Given the description of an element on the screen output the (x, y) to click on. 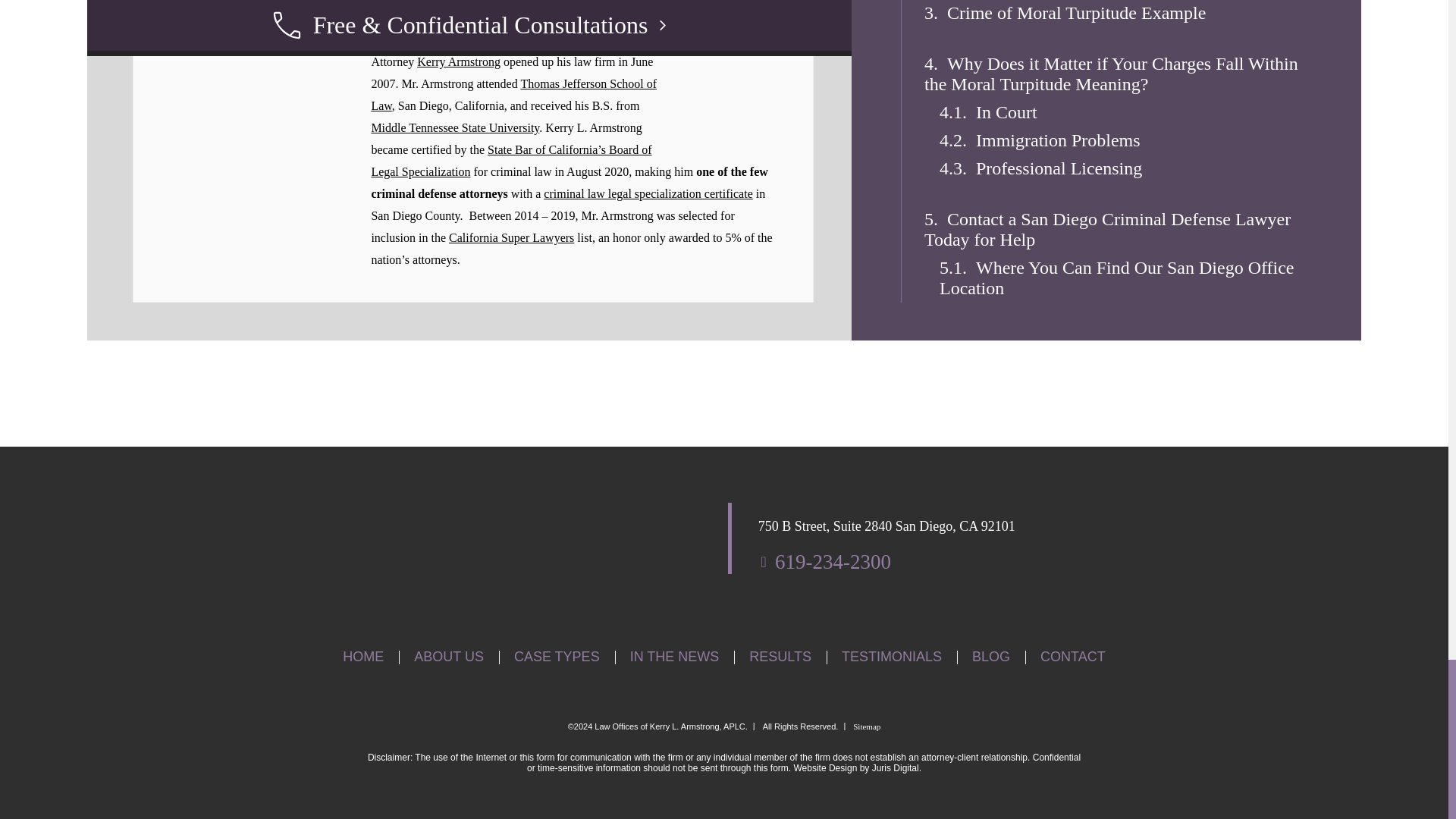
Law Offices of Kerry L. Armstrong, APLC's sitemap (866, 726)
